Given the description of an element on the screen output the (x, y) to click on. 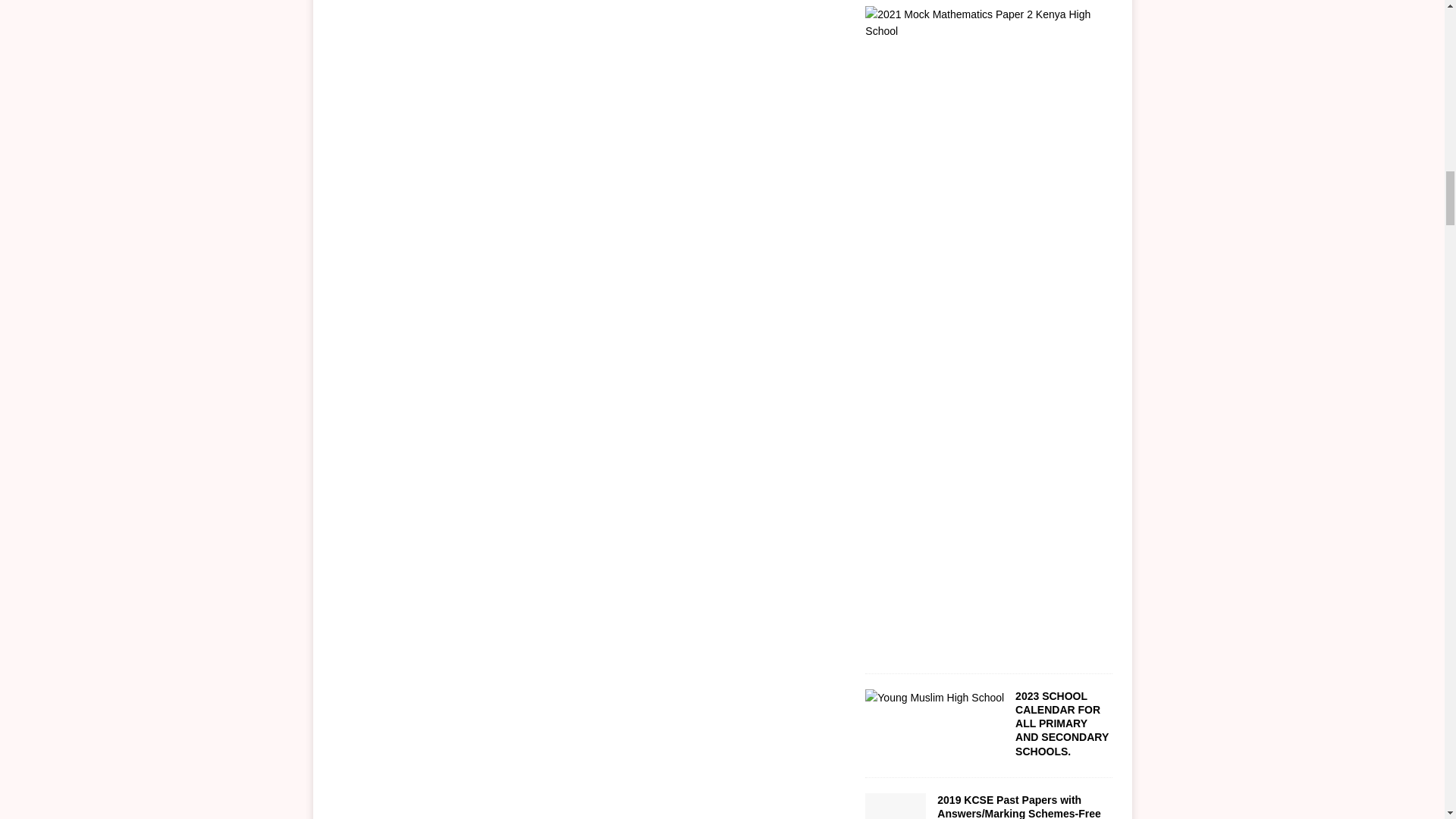
2023 SCHOOL CALENDAR FOR ALL PRIMARY AND SECONDARY SCHOOLS. (1061, 723)
2021 Mock Kiswahili Paper 2 na Majibu-Kenya High School (982, 30)
2023 SCHOOL CALENDAR FOR ALL PRIMARY AND SECONDARY SCHOOLS. (934, 697)
2023 SCHOOL CALENDAR FOR ALL PRIMARY AND SECONDARY SCHOOLS. (1061, 723)
